Given the description of an element on the screen output the (x, y) to click on. 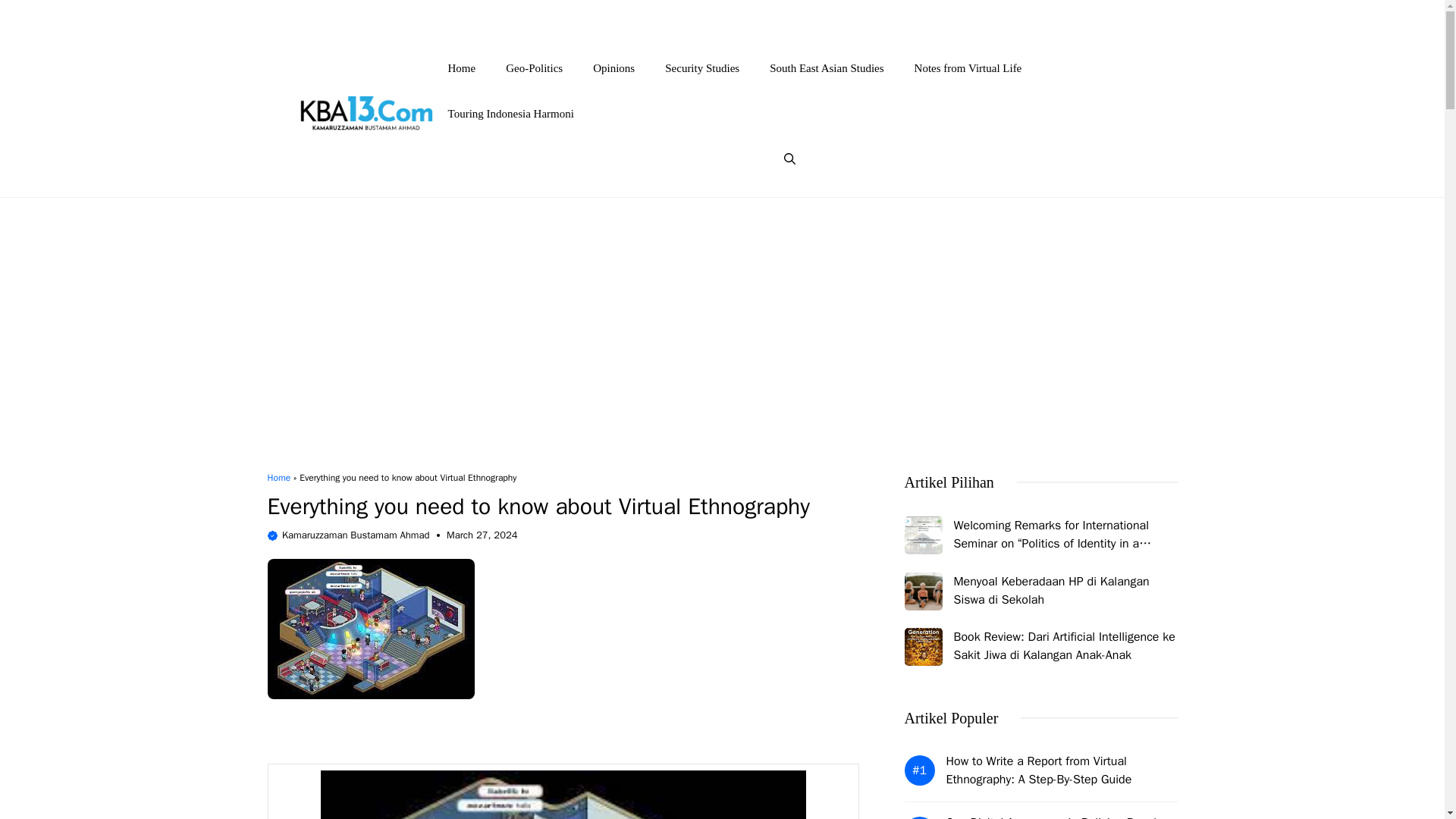
Kehidupan Virtual (1047, 15)
South East Asian Studies (826, 67)
Literasi (1130, 15)
Home (277, 477)
Touring Indonesia Harmoni (510, 113)
Home (462, 67)
Budaya (962, 15)
Geo-Politics (534, 67)
Kamaruzzaman Bustamam Ahmad (355, 534)
Opinions (613, 67)
Notes from Virtual Life (967, 67)
Security Studies (701, 67)
